Given the description of an element on the screen output the (x, y) to click on. 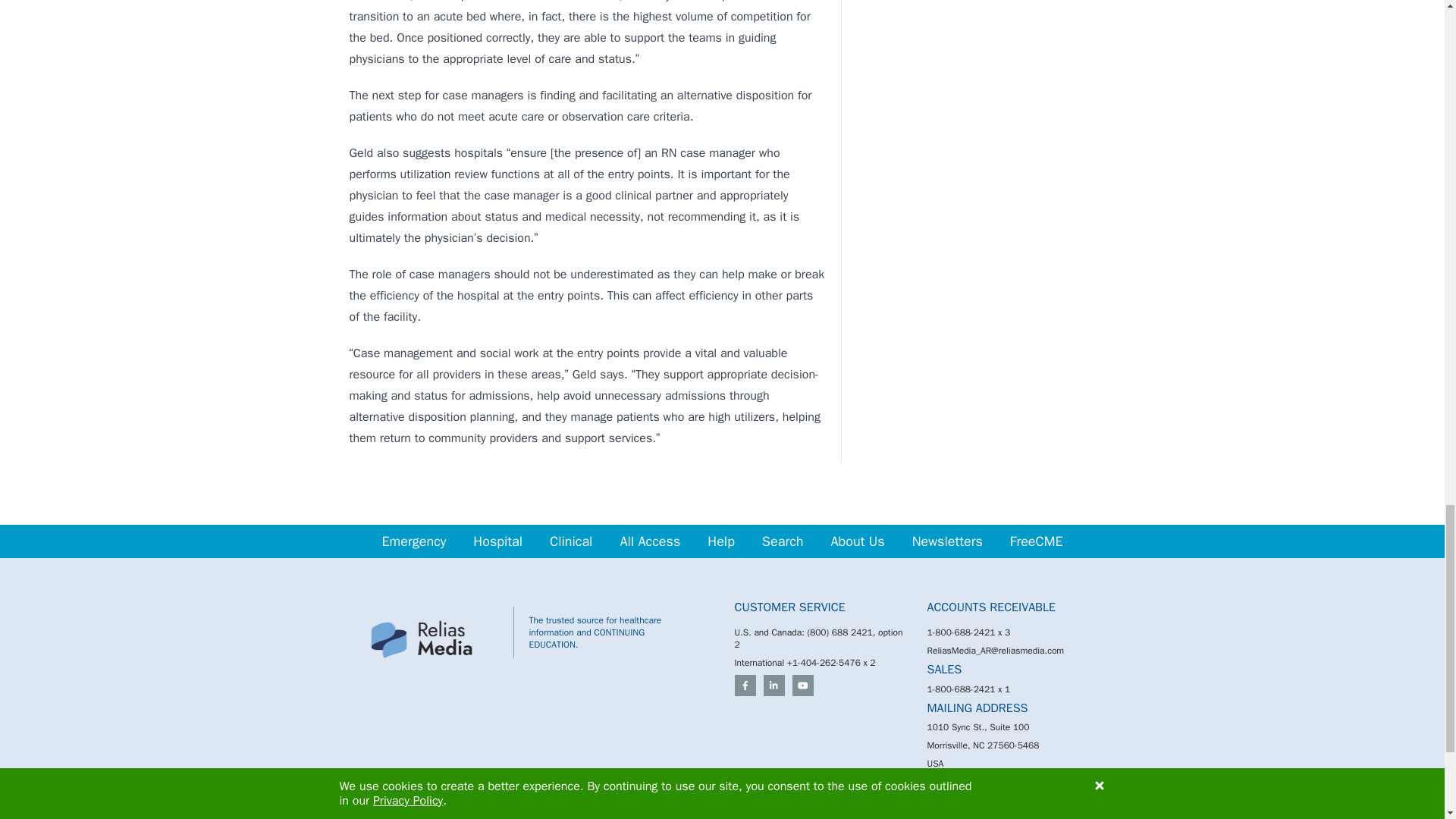
YouTube (802, 685)
Facebook (744, 685)
LinkedIn (773, 685)
